Given the description of an element on the screen output the (x, y) to click on. 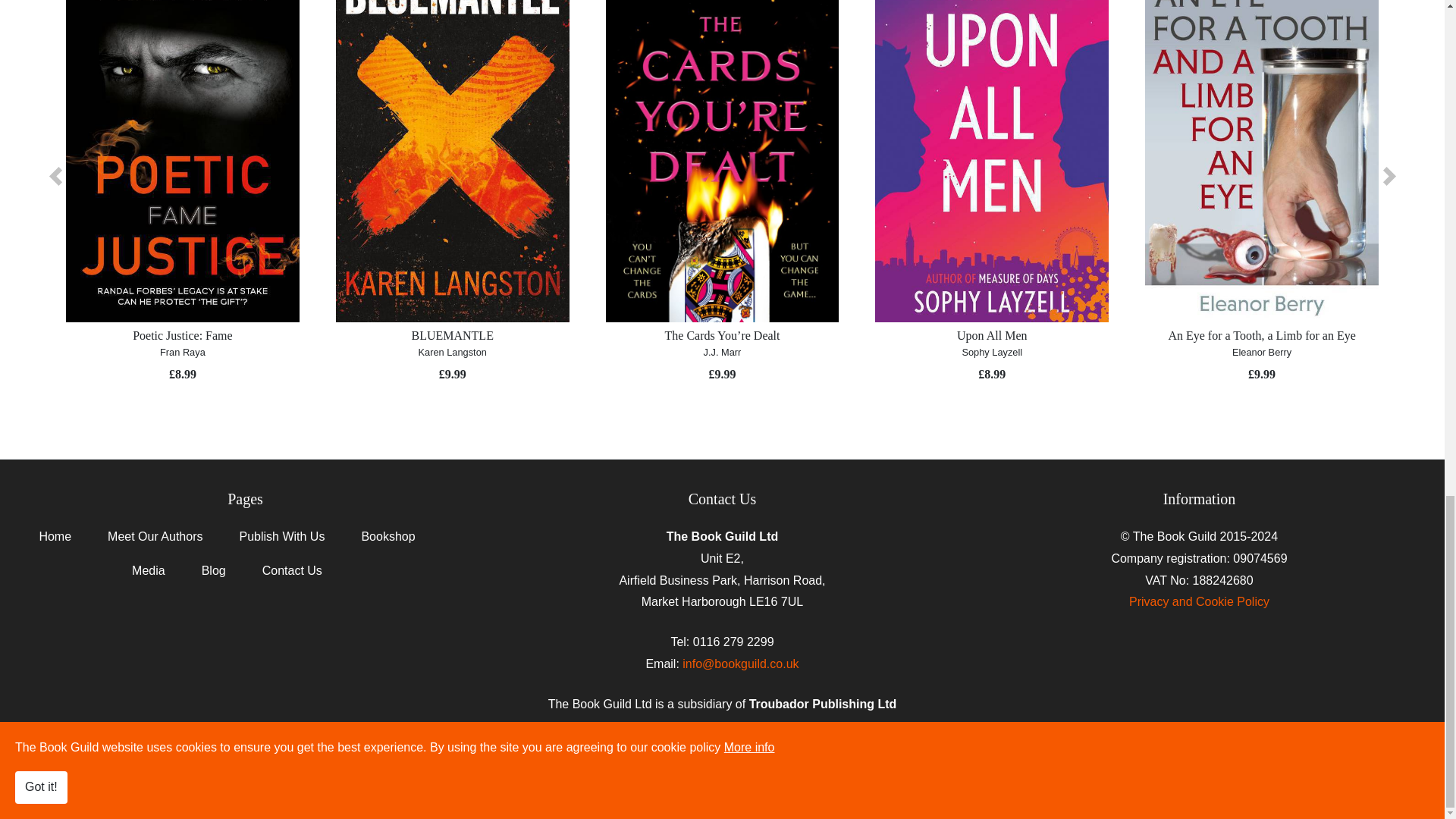
Home (55, 543)
Meet Our Authors (154, 543)
Publish With Us (281, 543)
